Given the description of an element on the screen output the (x, y) to click on. 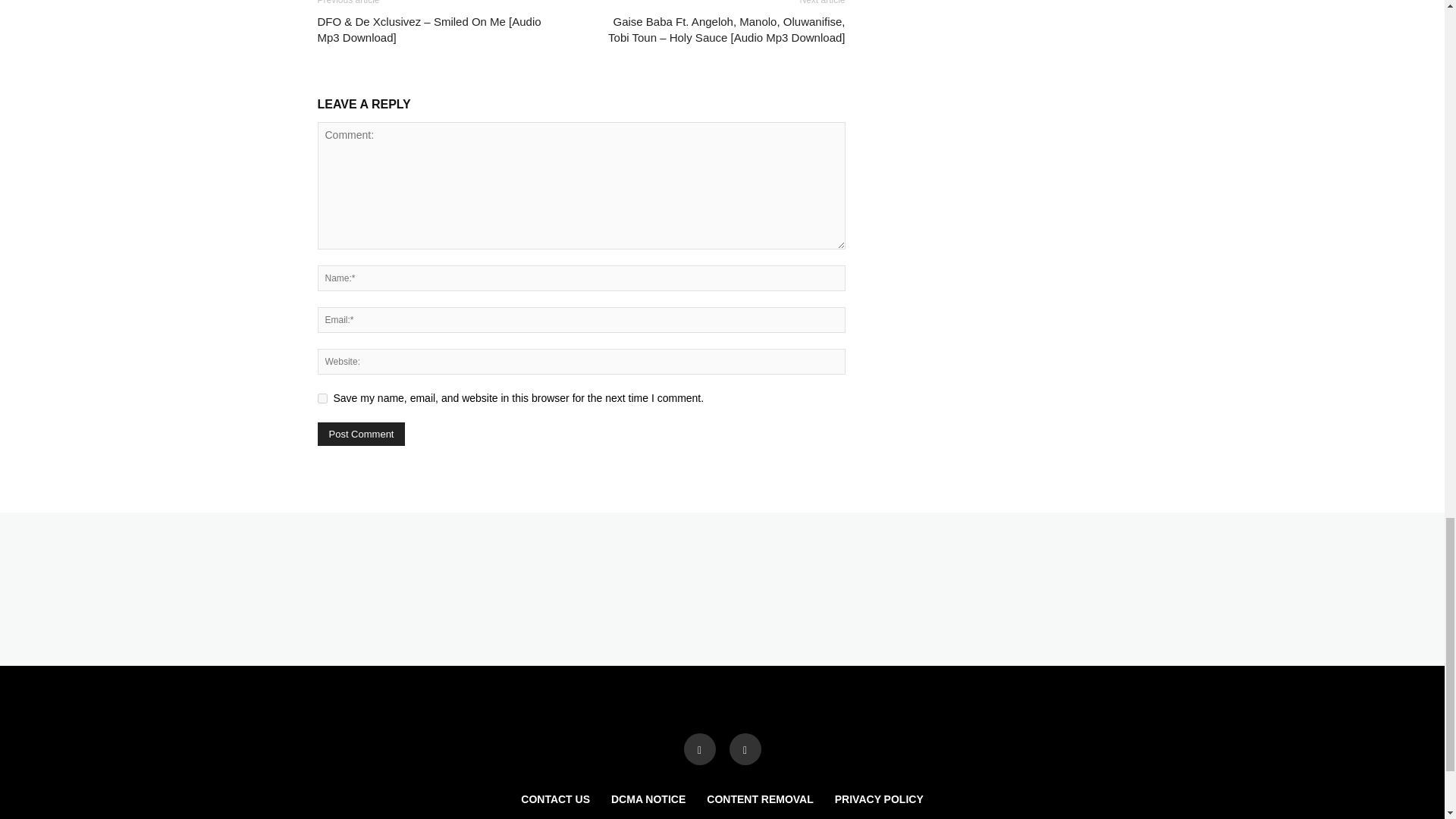
Post Comment (360, 433)
yes (321, 398)
